Given the description of an element on the screen output the (x, y) to click on. 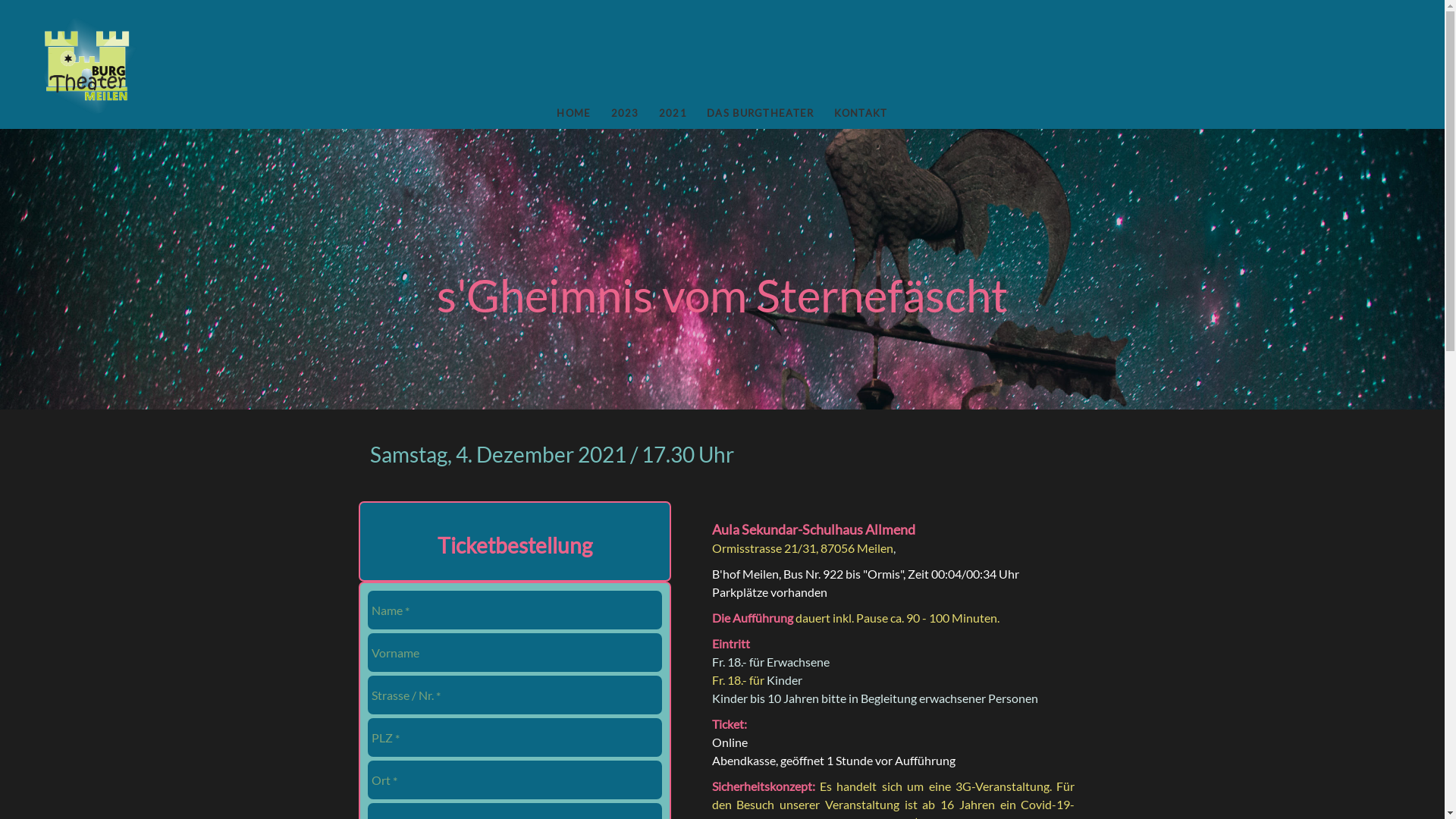
2021 Element type: text (672, 113)
Ormisstrasse 21/31, 87056 Meilen Element type: text (802, 547)
KONTAKT Element type: text (860, 113)
2023 Element type: text (625, 113)
DAS BURGTHEATER Element type: text (760, 113)
HOME Element type: text (573, 113)
